Given the description of an element on the screen output the (x, y) to click on. 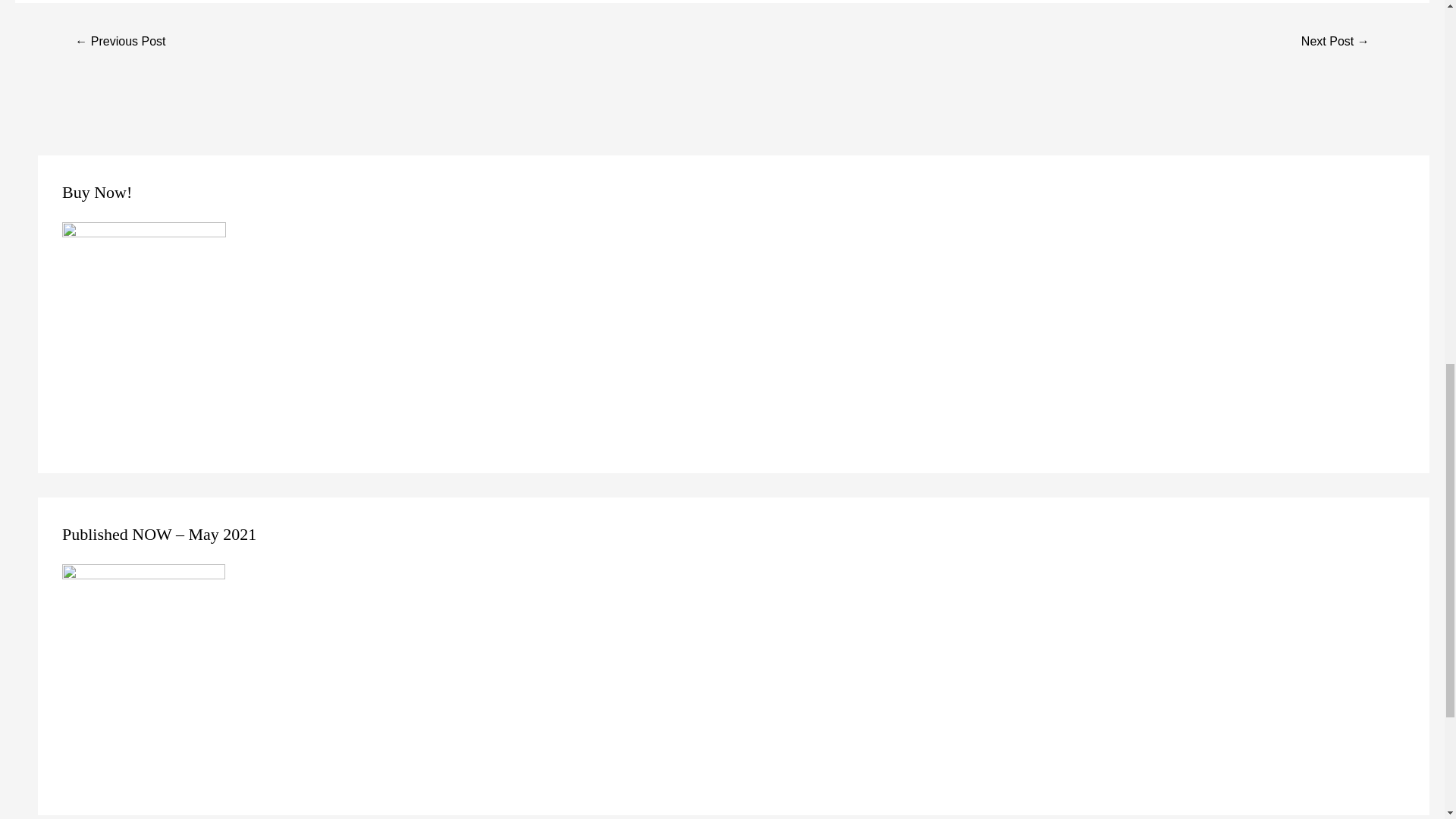
So, Where have I been? (119, 42)
If I didn't have Cats! (1334, 42)
Published NOW - May 2021 (143, 677)
